Given the description of an element on the screen output the (x, y) to click on. 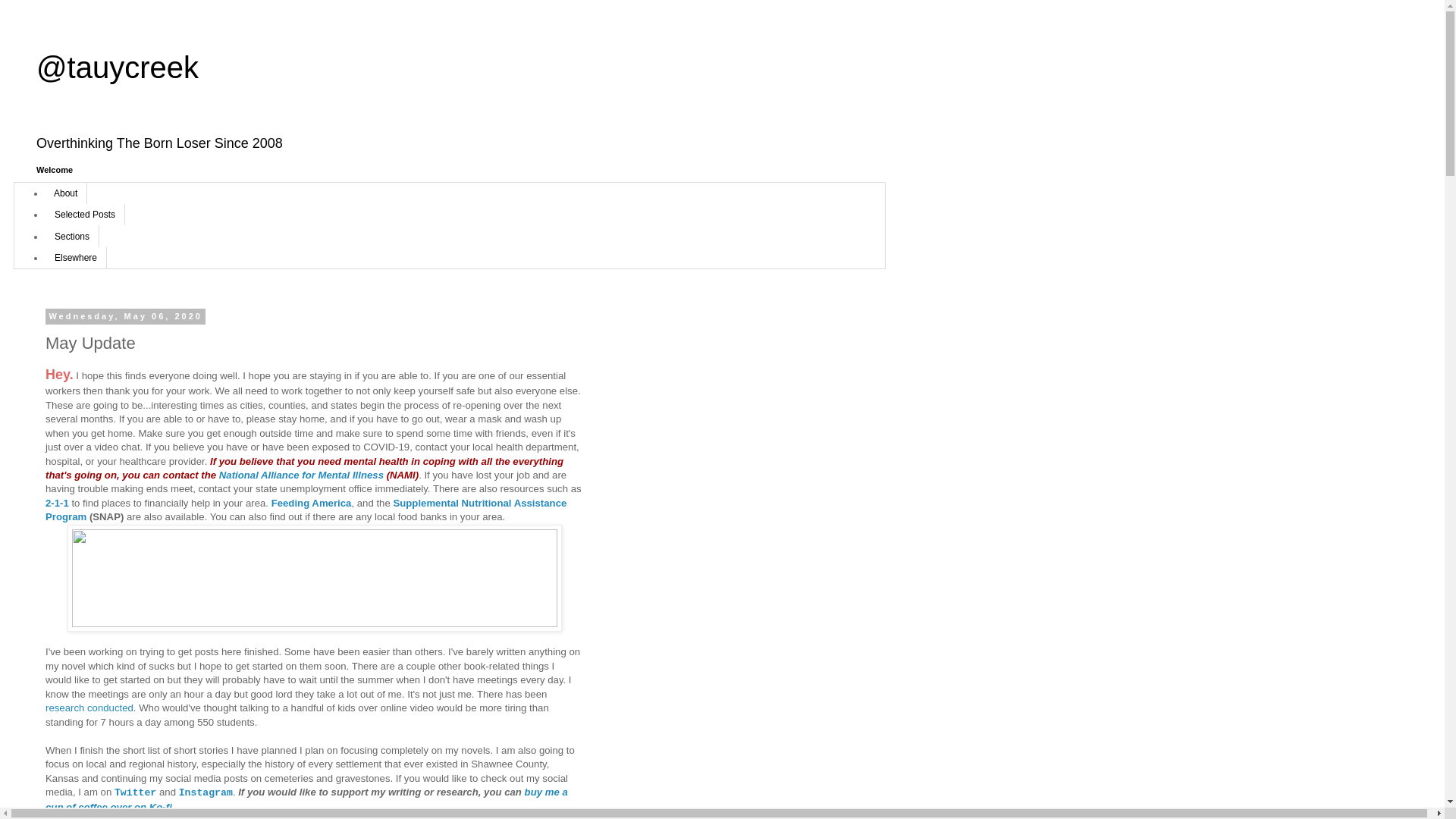
2-1-1 (56, 502)
Instagram (205, 791)
Twitter (135, 791)
conducted (110, 707)
research (64, 707)
Sections (72, 235)
Feeding America (311, 502)
Selected Posts (85, 214)
National Alliance for Mental Illness (301, 474)
Elsewhere (75, 257)
